Given the description of an element on the screen output the (x, y) to click on. 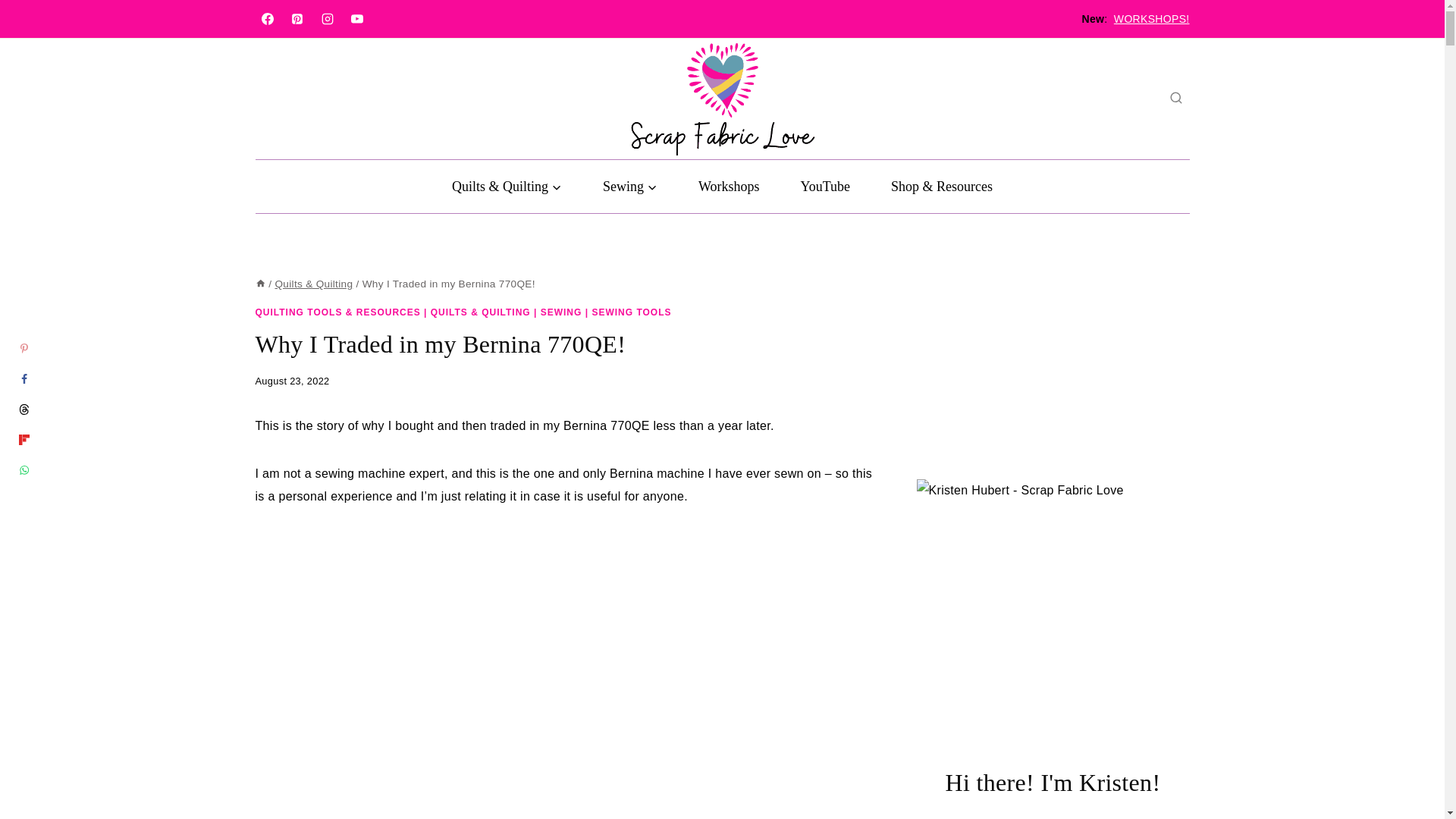
Share on Facebook (23, 378)
Share on Threads (23, 409)
YouTube (824, 185)
Workshops (729, 185)
SEWING (561, 312)
Sewing (630, 185)
Share on WhatsApp (23, 470)
WORKSHOPS! (1151, 19)
Share on Flipboard (23, 440)
SEWING TOOLS (631, 312)
